Given the description of an element on the screen output the (x, y) to click on. 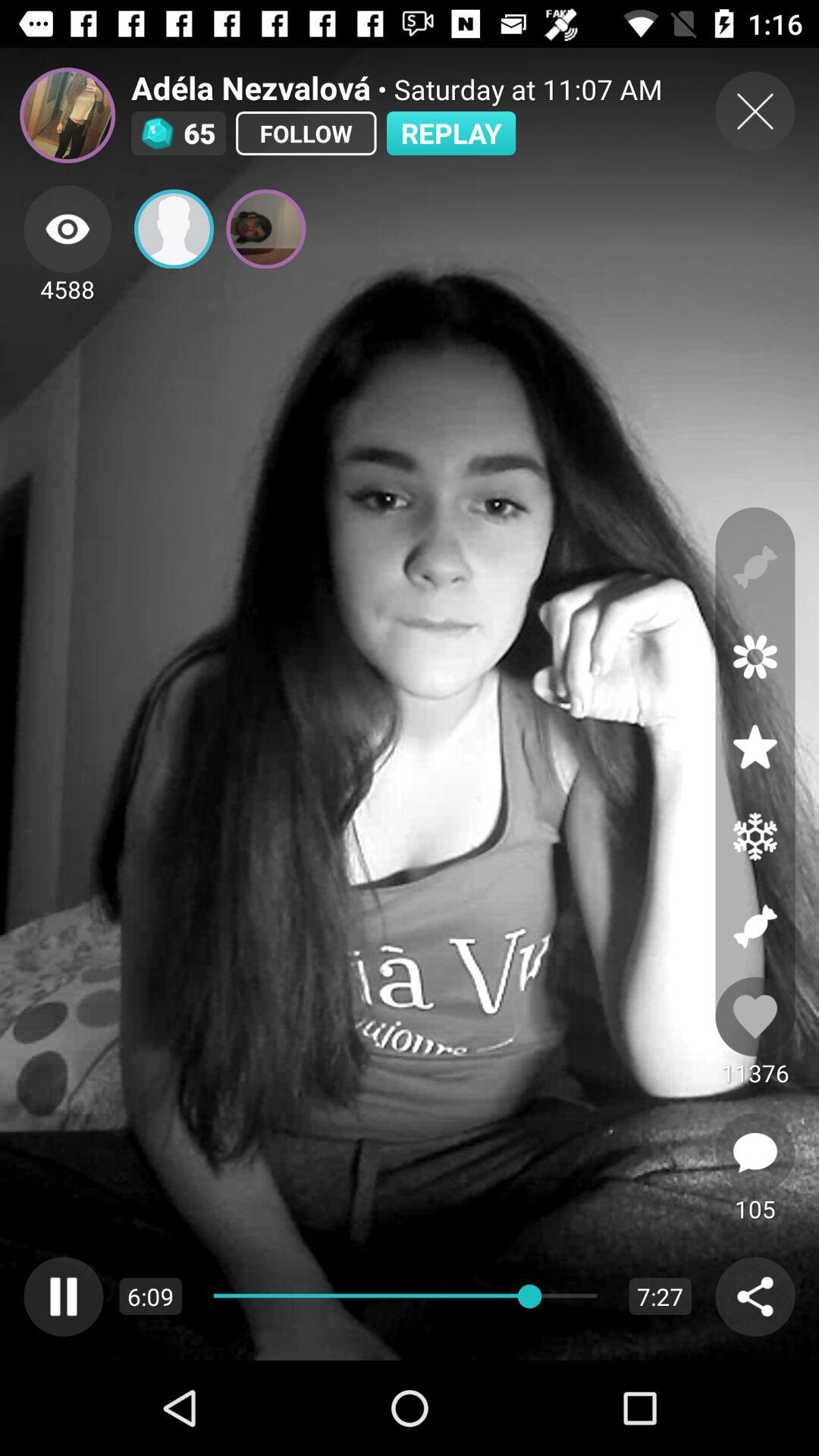
go to close button (755, 111)
